Given the description of an element on the screen output the (x, y) to click on. 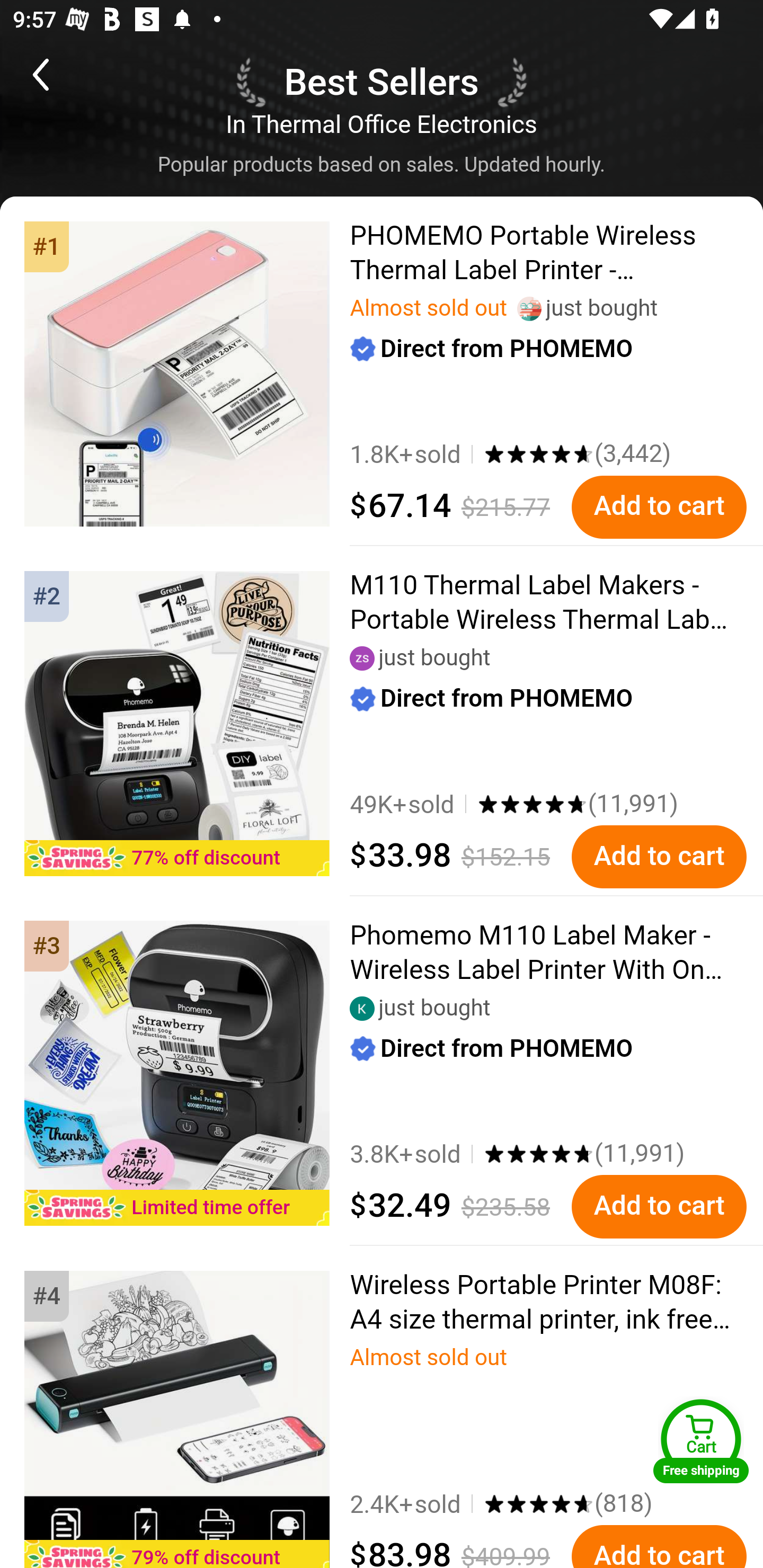
Back (65, 74)
Add to cart (658, 507)
Add to cart (658, 857)
Add to cart (658, 1207)
Cart Free shipping Cart (701, 1440)
Add to cart (658, 1546)
